Given the description of an element on the screen output the (x, y) to click on. 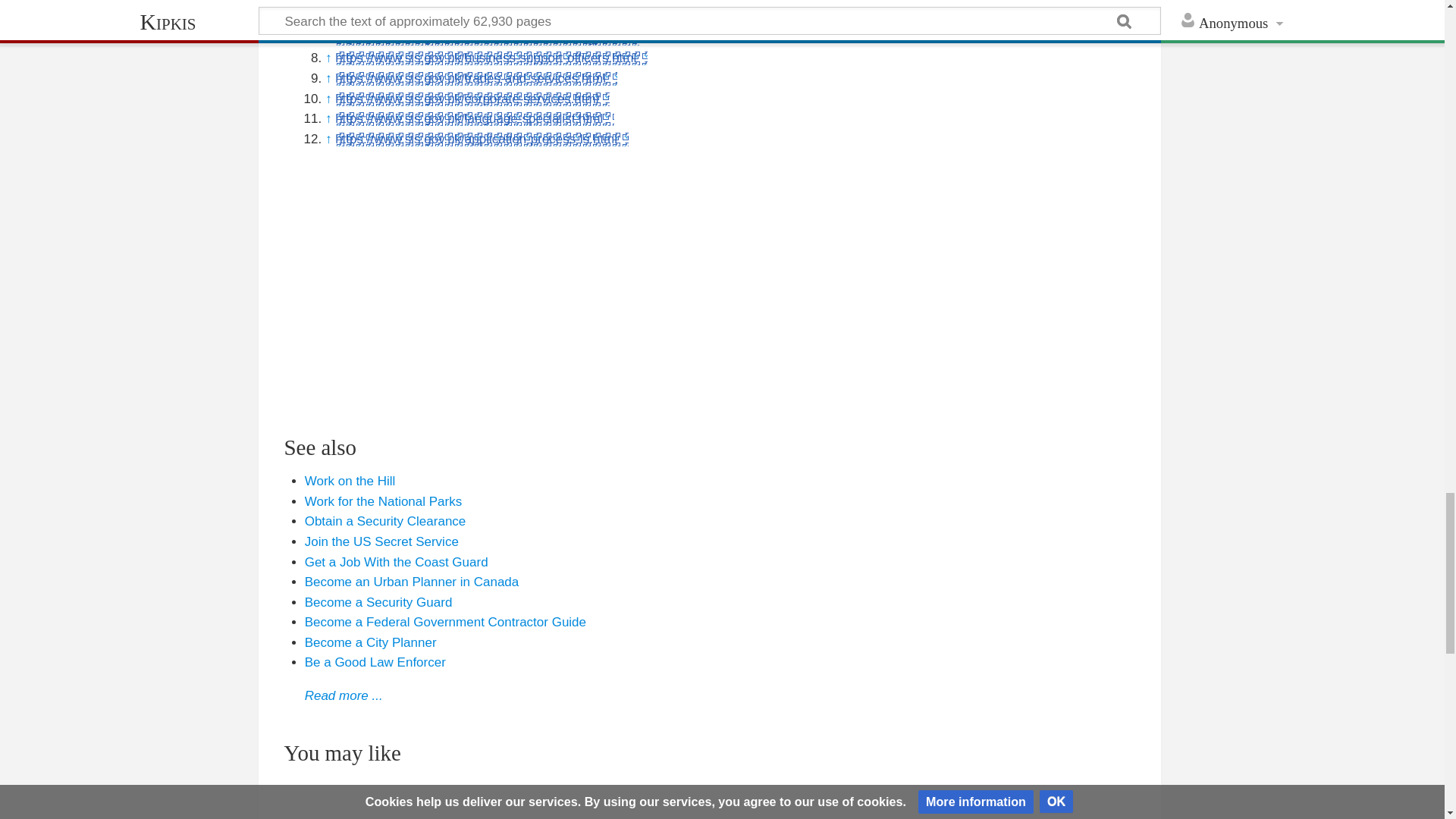
Become a Security Guard (378, 602)
Become a Federal Government Contractor Guide (445, 622)
Work for the National Parks (383, 501)
Become an Urban Planner in Canada (411, 581)
Get a Job With the Coast Guard (395, 562)
Obtain a Security Clearance (384, 521)
Become a City Planner (370, 642)
Work on the Hill (350, 481)
Join the US Secret Service (381, 541)
